Given the description of an element on the screen output the (x, y) to click on. 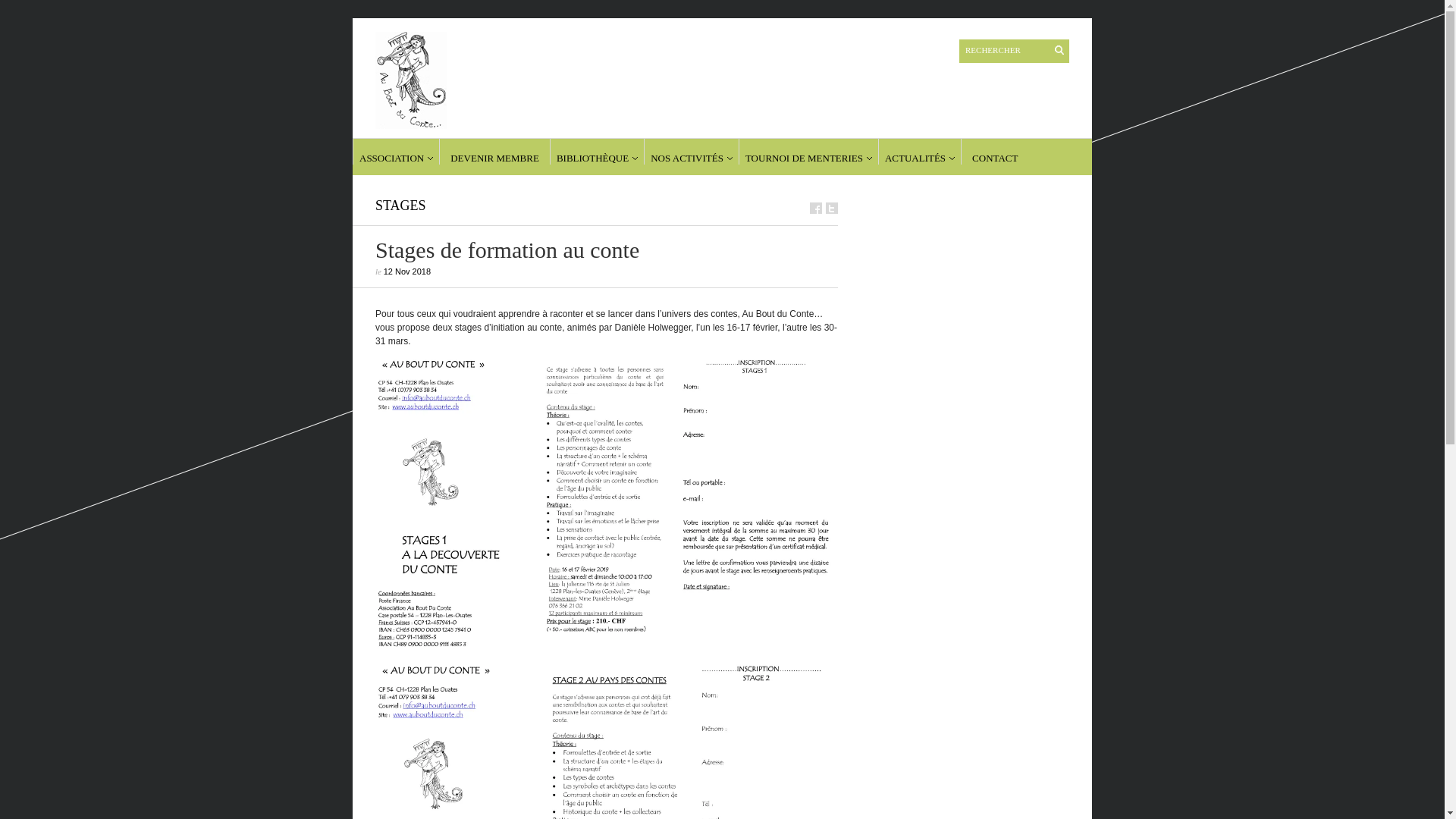
Partagez sur Facebook Element type: hover (815, 207)
DEVENIR MEMBRE Element type: text (494, 151)
ASSOCIATION Element type: text (396, 151)
STAGES Element type: text (400, 205)
TOURNOI DE MENTERIES Element type: text (808, 151)
Parlez-en sur Twitter Element type: hover (831, 207)
CONTACT Element type: text (994, 151)
